Given the description of an element on the screen output the (x, y) to click on. 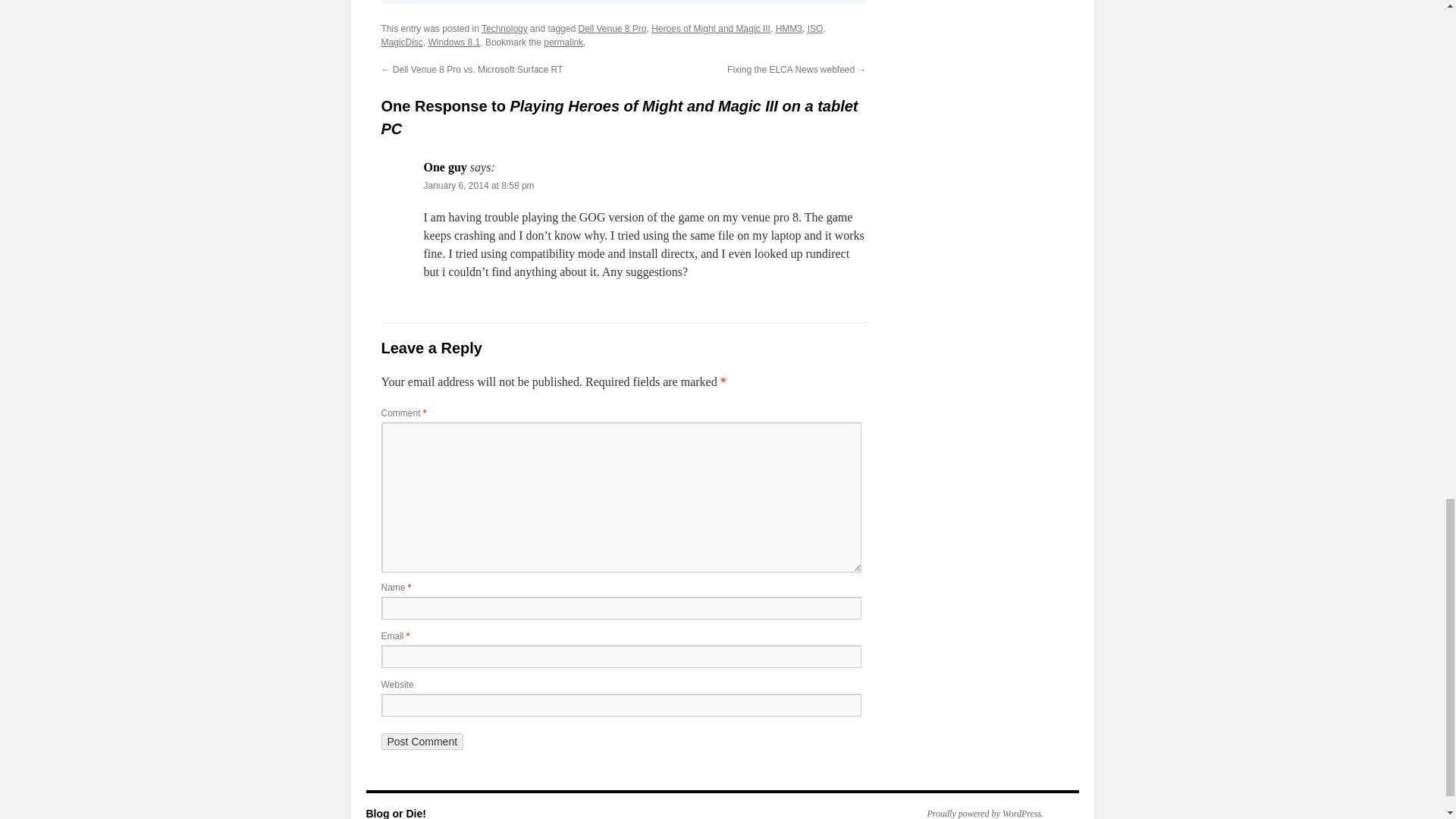
Windows 8.1 (454, 41)
permalink (563, 41)
Post Comment (421, 741)
MagicDisc (401, 41)
Heroes of Might and Magic III (710, 28)
Dell Venue 8 Pro (612, 28)
HMM3 (789, 28)
Technology (504, 28)
January 6, 2014 at 8:58 pm (478, 185)
